Given the description of an element on the screen output the (x, y) to click on. 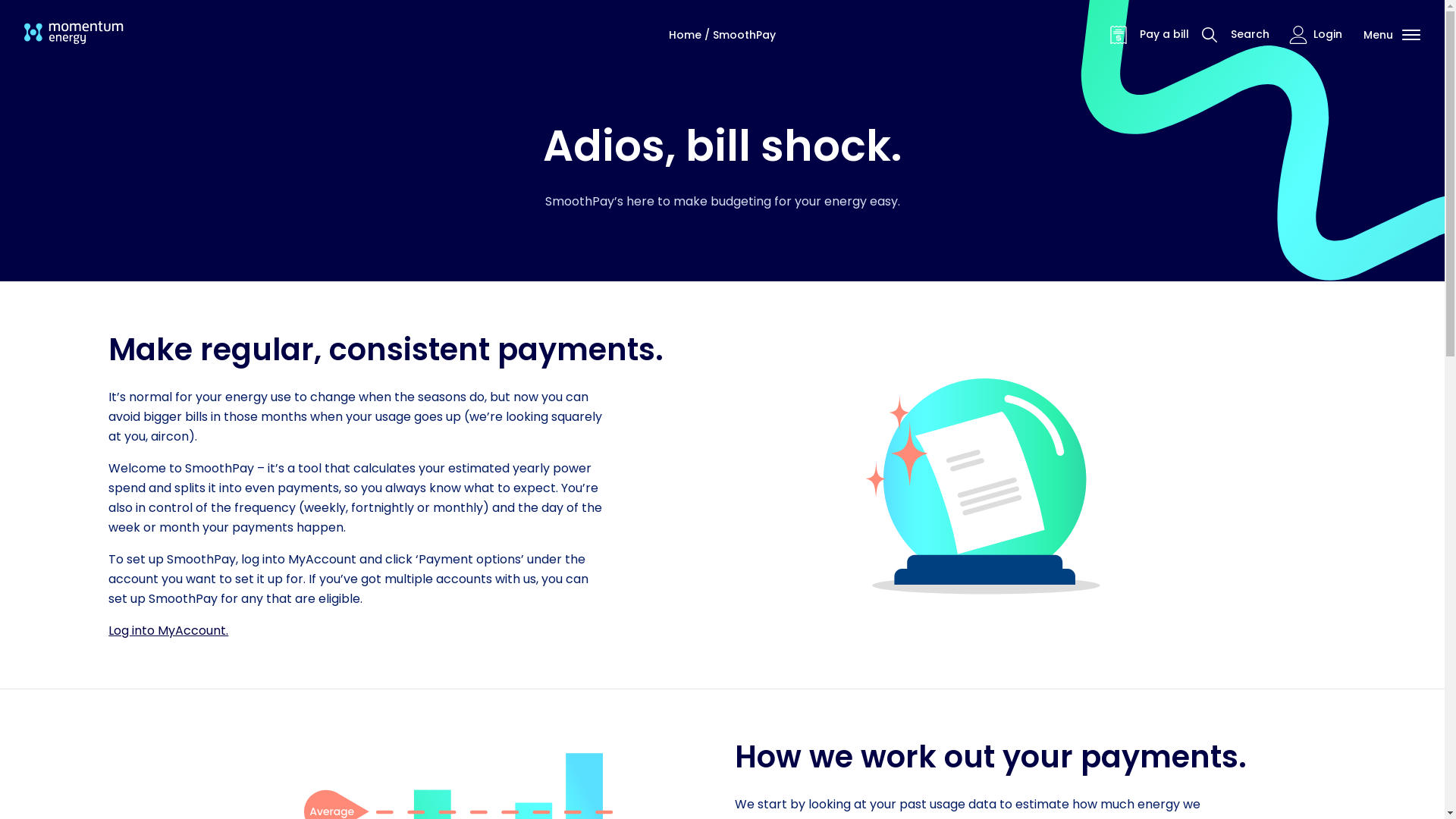
Pay a bill Element type: text (1147, 34)
Login Element type: text (1314, 34)
Menu   Element type: text (1391, 34)
Log into MyAccount. Element type: text (168, 630)
Search Element type: text (1233, 34)
Home Element type: text (686, 34)
